Given the description of an element on the screen output the (x, y) to click on. 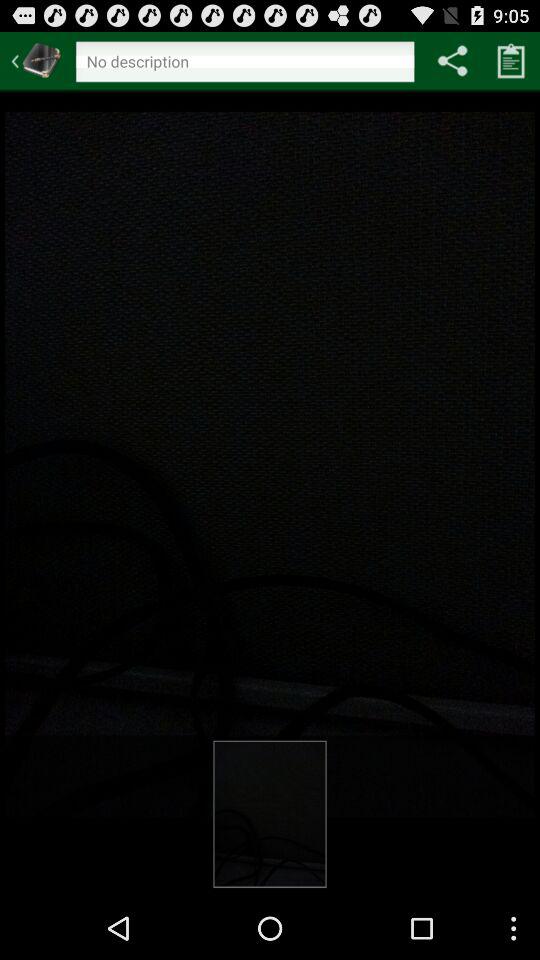
share this content (452, 60)
